Given the description of an element on the screen output the (x, y) to click on. 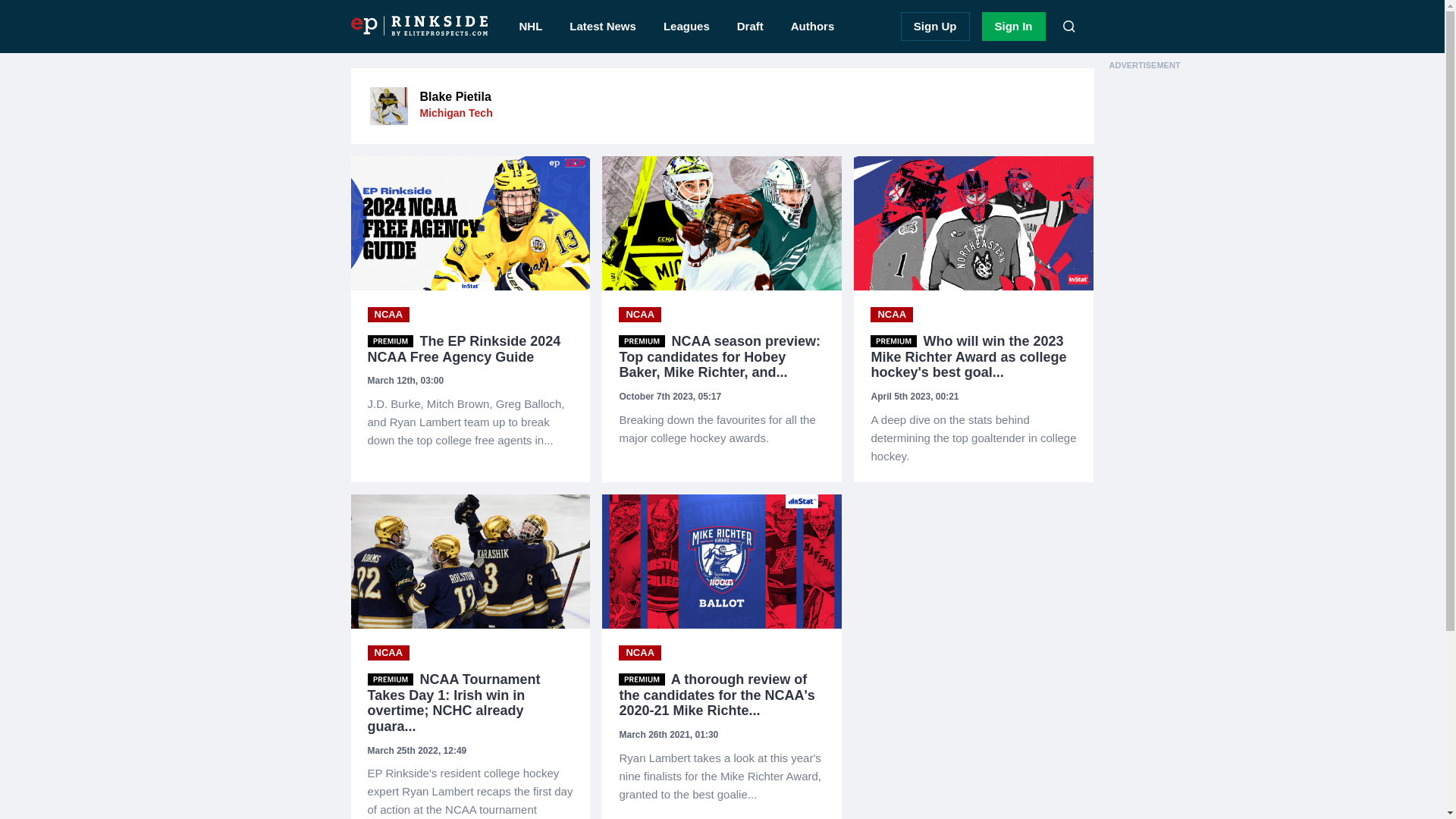
The EP Rinkside 2024 NCAA Free Agency Guide (469, 421)
NCAA (639, 314)
eprinkside.com (418, 26)
NCAA (387, 314)
NCAA (891, 314)
Michigan Tech (456, 112)
The EP Rinkside 2024 NCAA Free Agency Guide (469, 348)
